Given the description of an element on the screen output the (x, y) to click on. 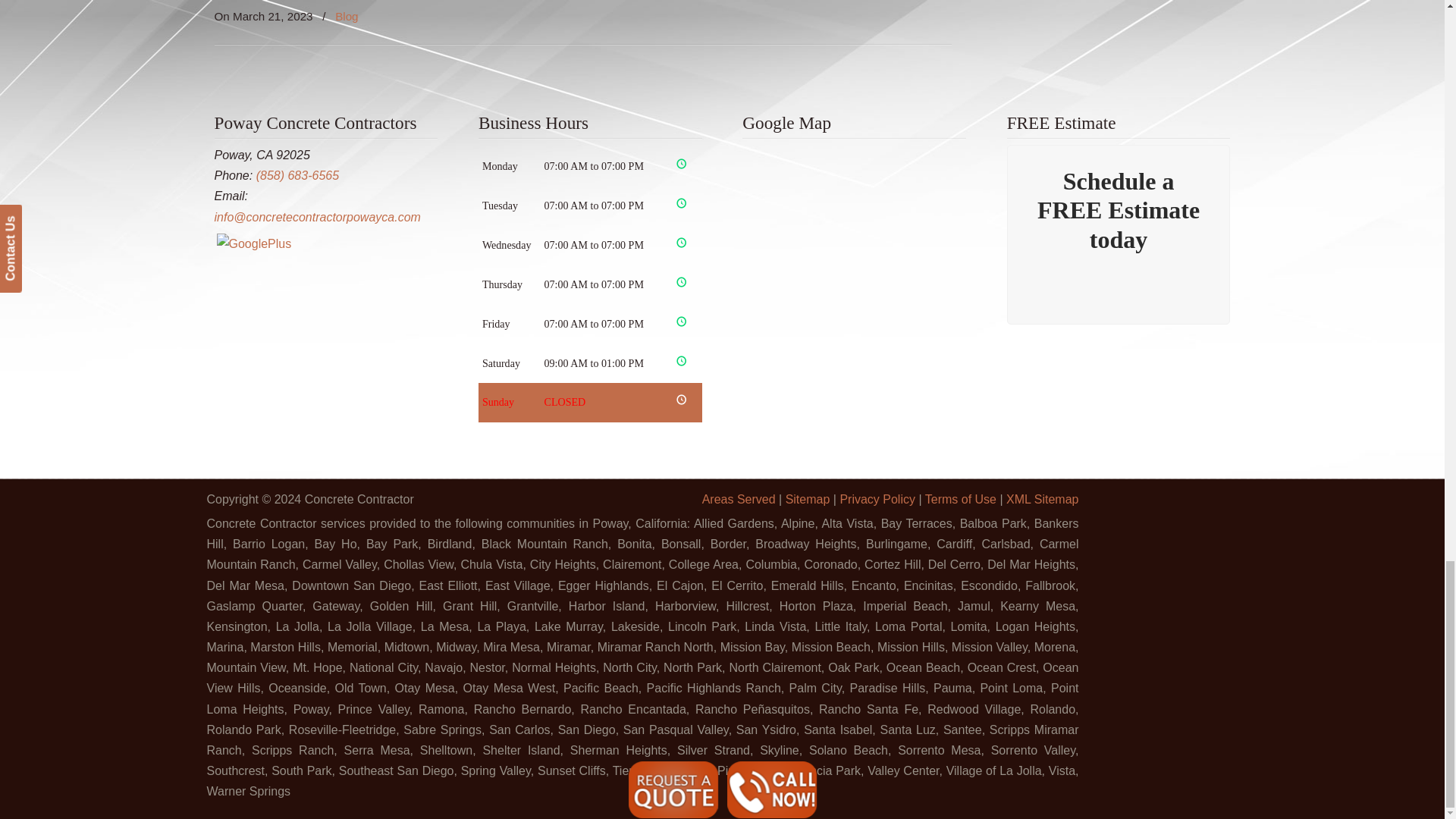
GooglePlus (254, 243)
Sitemap (1042, 499)
Areas Served (738, 499)
Phone (297, 174)
Blog (346, 16)
Terms of Use (959, 499)
Privacy Policy (877, 499)
Sitemap (807, 499)
